Given the description of an element on the screen output the (x, y) to click on. 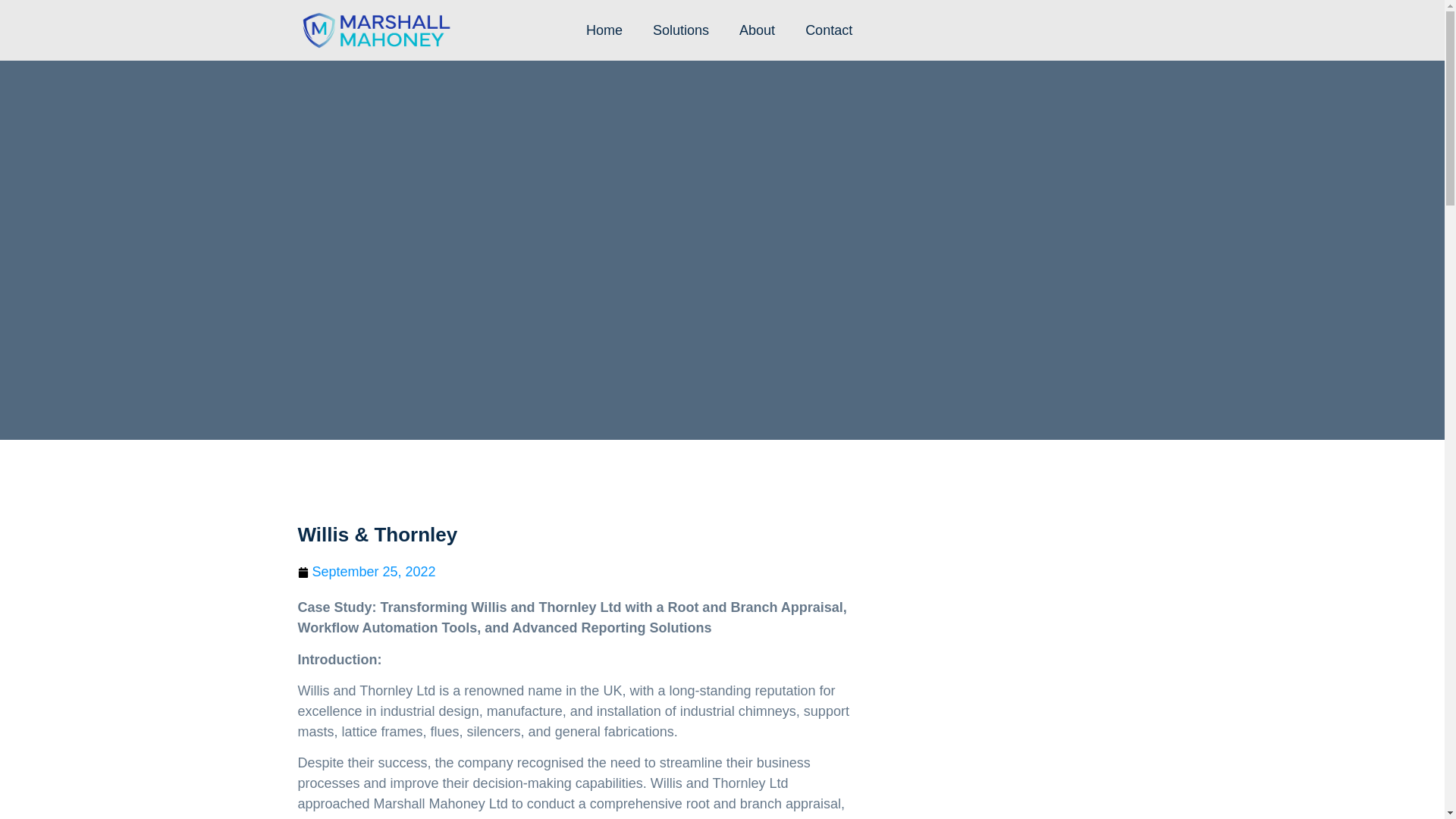
Contact (828, 30)
About (756, 30)
Solutions (680, 30)
Home (603, 30)
September 25, 2022 (366, 571)
